Given the description of an element on the screen output the (x, y) to click on. 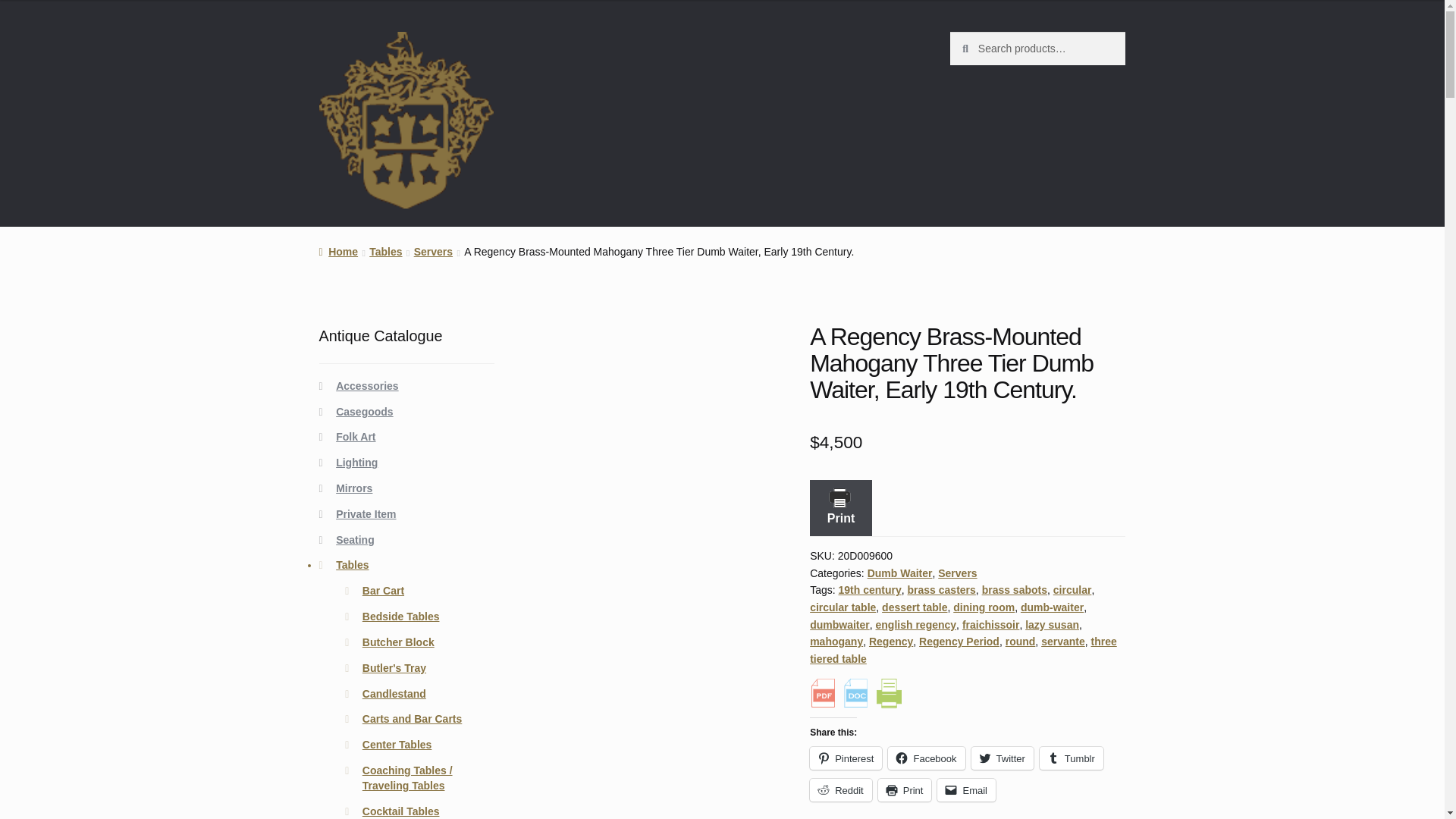
circular (1072, 589)
Servers (956, 573)
Click to share on Pinterest (845, 757)
brass sabots (1013, 589)
Click to share on Twitter (1002, 757)
Home (338, 251)
Dumb Waiter (900, 573)
Servers (432, 251)
brass casters (941, 589)
Print (840, 507)
